Given the description of an element on the screen output the (x, y) to click on. 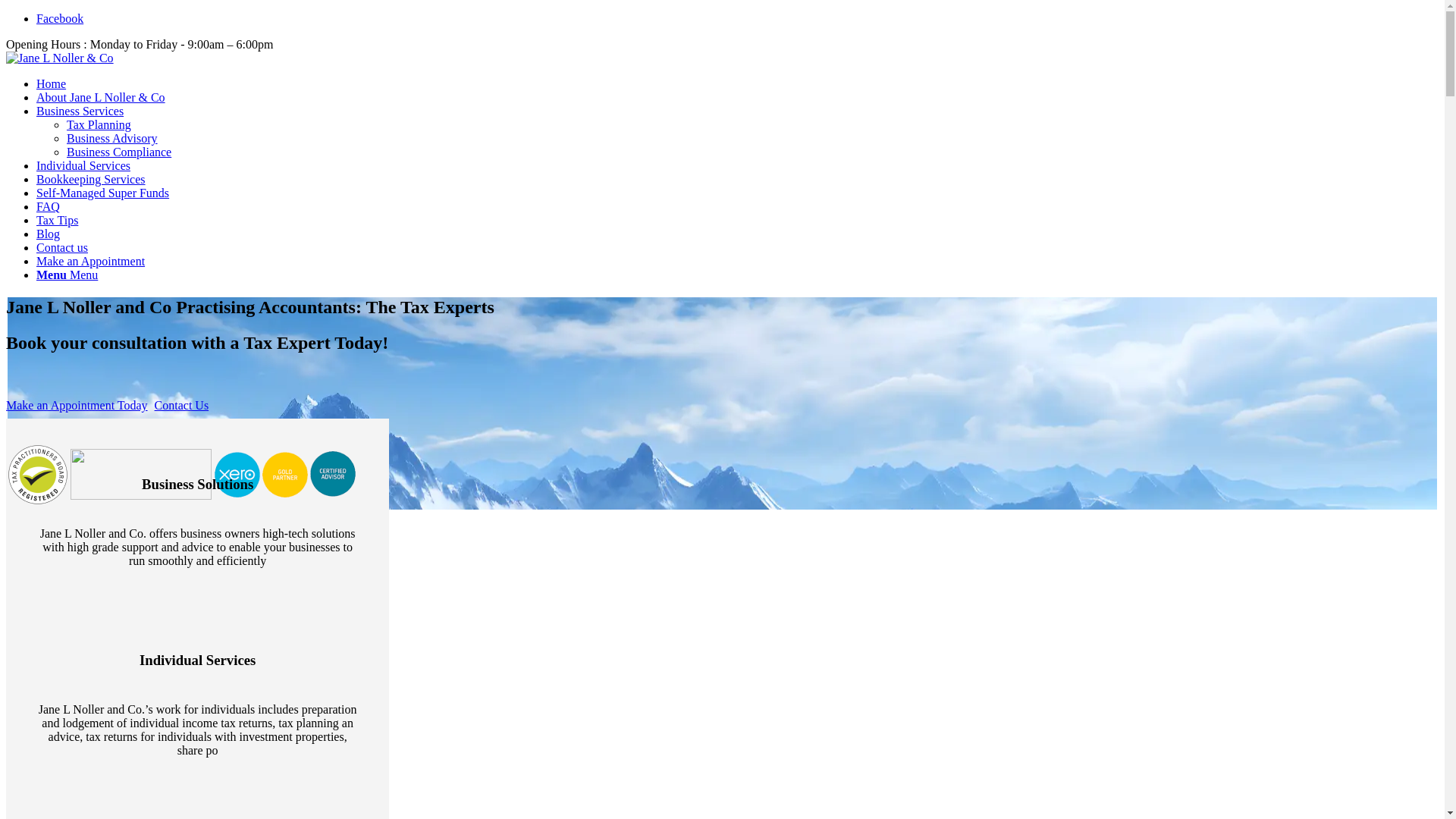
Business Services Element type: text (79, 110)
Tax Planning Element type: text (98, 124)
Contact us Element type: text (61, 247)
Self-Managed Super Funds Element type: text (102, 192)
Home Element type: text (50, 83)
Contact Us Element type: text (181, 404)
Make an Appointment Today Element type: text (76, 404)
Business Compliance Element type: text (118, 151)
Tax Tips Element type: text (57, 219)
JLNlogo Element type: hover (59, 58)
Menu Menu Element type: text (66, 274)
Facebook Element type: text (59, 18)
Business Advisory Element type: text (111, 137)
Individual Services Element type: text (83, 165)
Make an Appointment Element type: text (90, 260)
Bookkeeping Services Element type: text (90, 178)
About Jane L Noller & Co Element type: text (100, 97)
Blog Element type: text (47, 233)
FAQ Element type: text (47, 206)
